Given the description of an element on the screen output the (x, y) to click on. 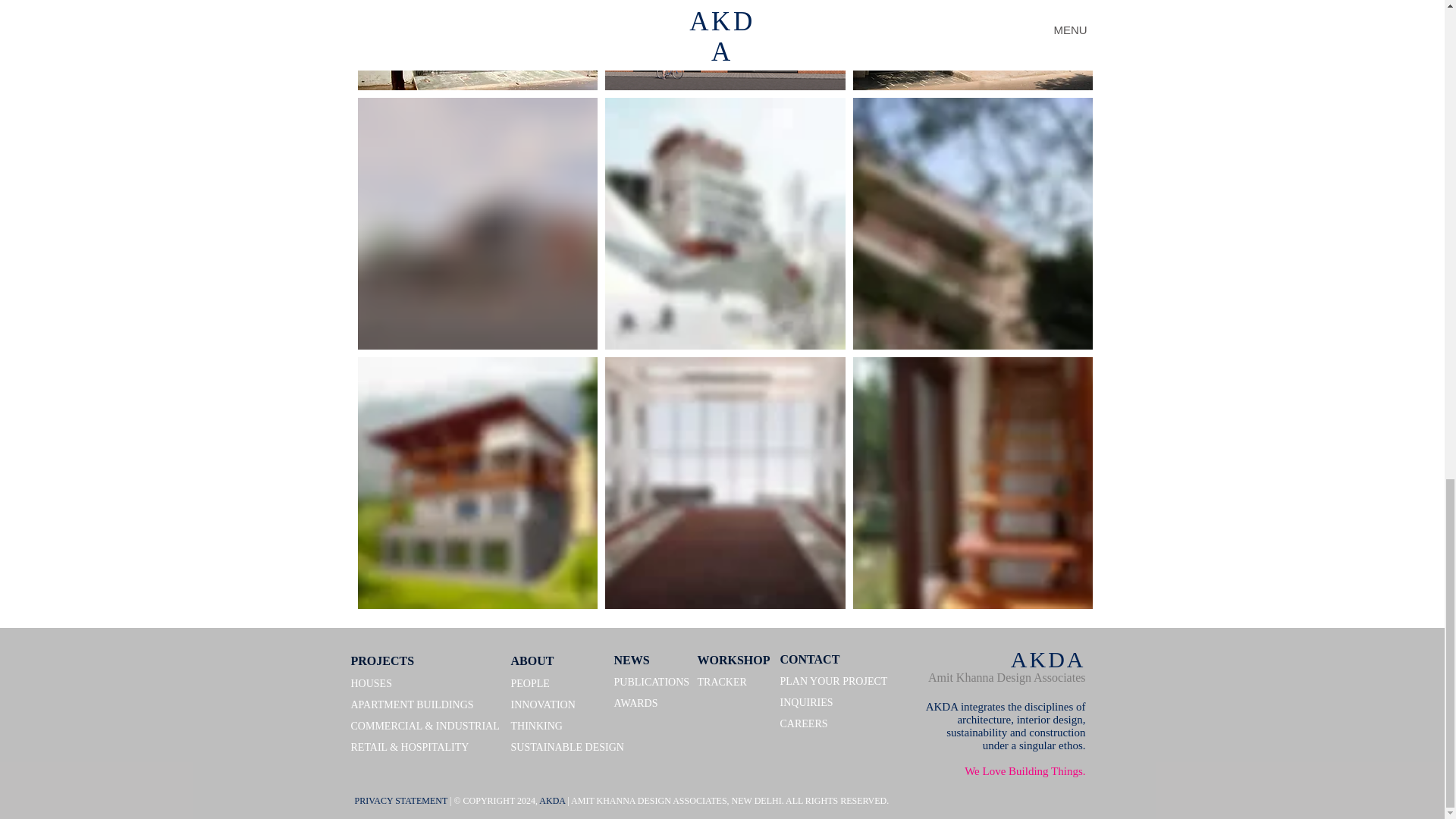
CAREERS (802, 723)
AWARDS (636, 703)
PEOPLE (530, 683)
THINKING (536, 726)
AKDA (1048, 659)
PRIVACY STATEMENT  (402, 800)
NEWS (631, 660)
INNOVATION (543, 704)
INQUIRIES (805, 702)
PLAN YOUR PROJECT (832, 681)
TRACKER (721, 681)
SUSTAINABLE DESIGN (567, 747)
APARTMENT BUILDINGS (411, 704)
WORKSHOP (733, 660)
PUBLICATIONS (652, 681)
